Given the description of an element on the screen output the (x, y) to click on. 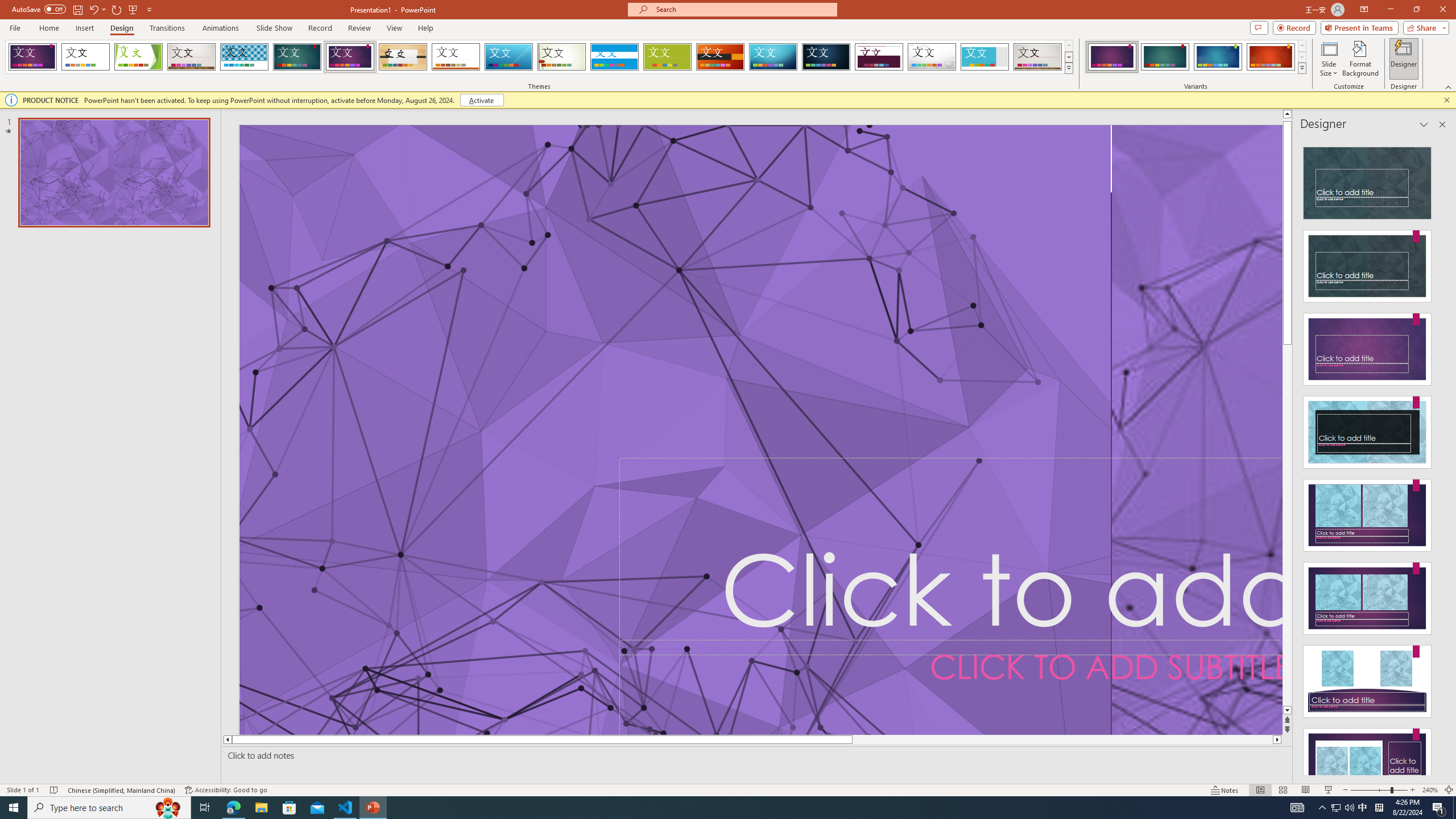
Retrospect (455, 56)
Integral (244, 56)
Subtitle TextBox (950, 686)
Organic (403, 56)
AutomationID: ThemeVariantsGallery (1195, 56)
